Given the description of an element on the screen output the (x, y) to click on. 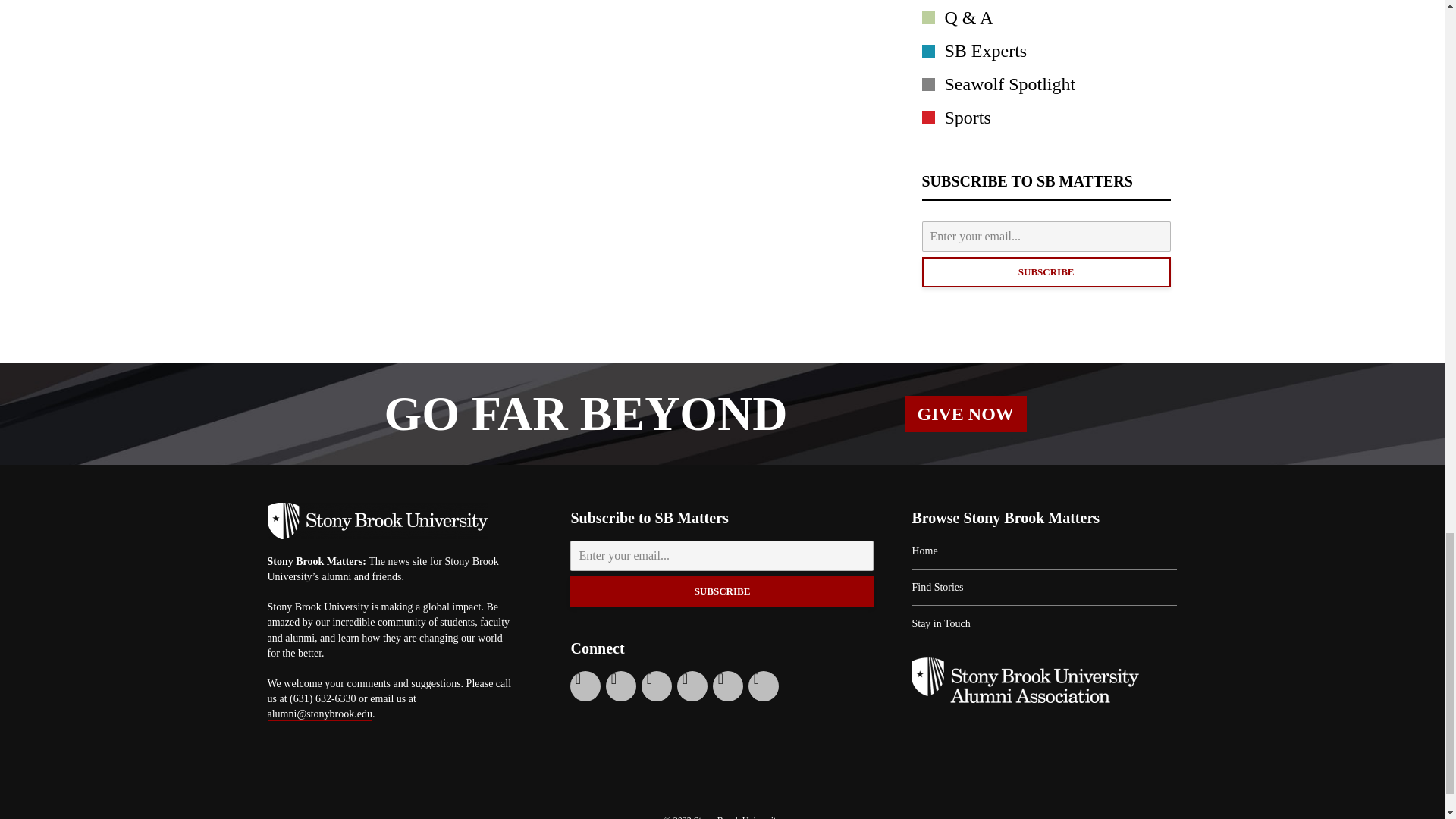
stony-brook-university-logo-horizontal-white-300 (376, 520)
